Given the description of an element on the screen output the (x, y) to click on. 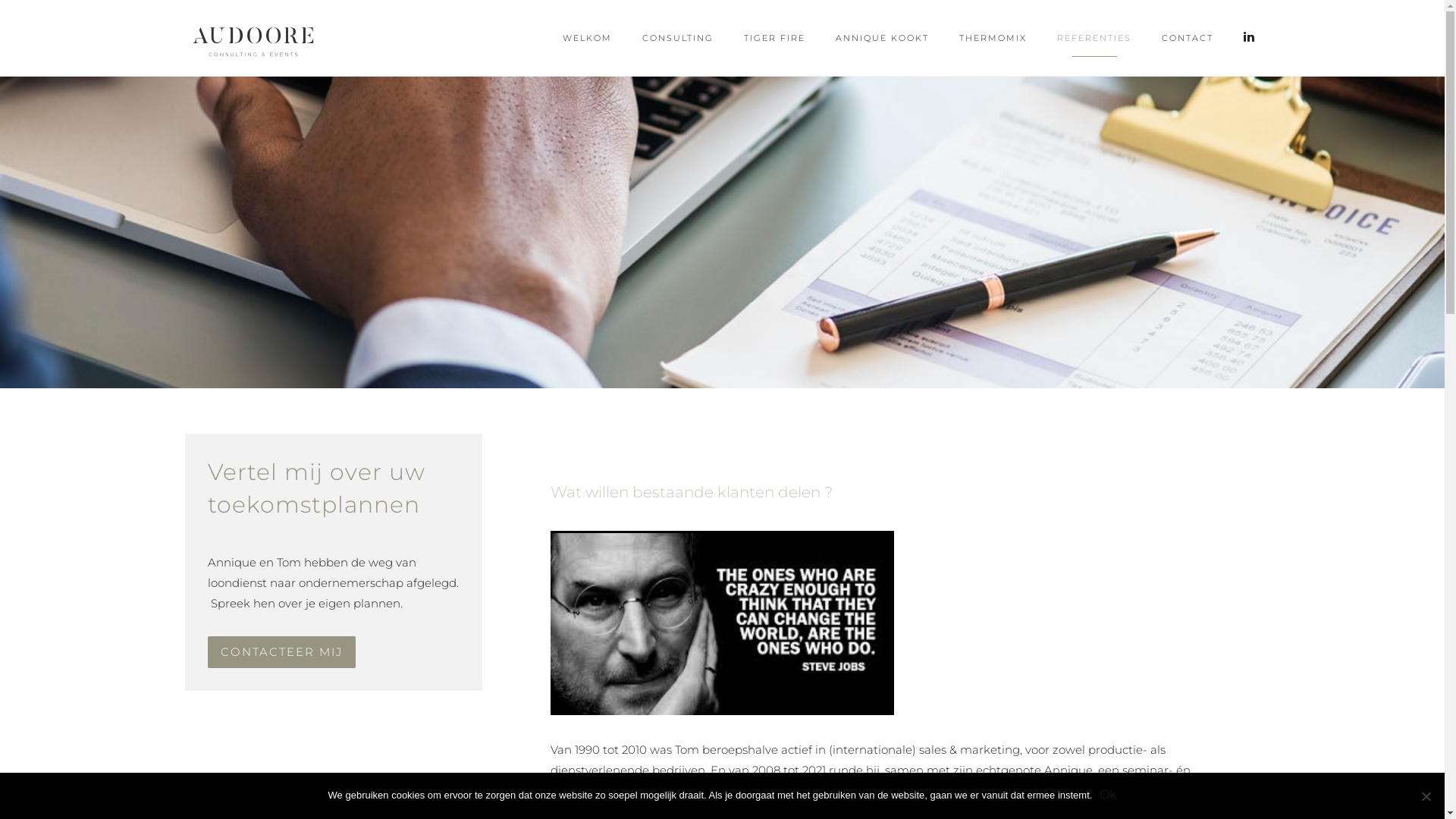
Nee Element type: hover (1425, 795)
CONTACTEER MIJ Element type: text (281, 652)
REFERENTIES Element type: text (1094, 37)
WELKOM Element type: text (586, 37)
CONTACT Element type: text (1187, 37)
Ok Element type: text (1107, 794)
CONTACTEER MIJ Element type: text (281, 651)
CONSULTING Element type: text (677, 37)
THERMOMIX Element type: text (992, 37)
TIGER FIRE Element type: text (774, 37)
ANNIQUE KOOKT Element type: text (881, 37)
